Given the description of an element on the screen output the (x, y) to click on. 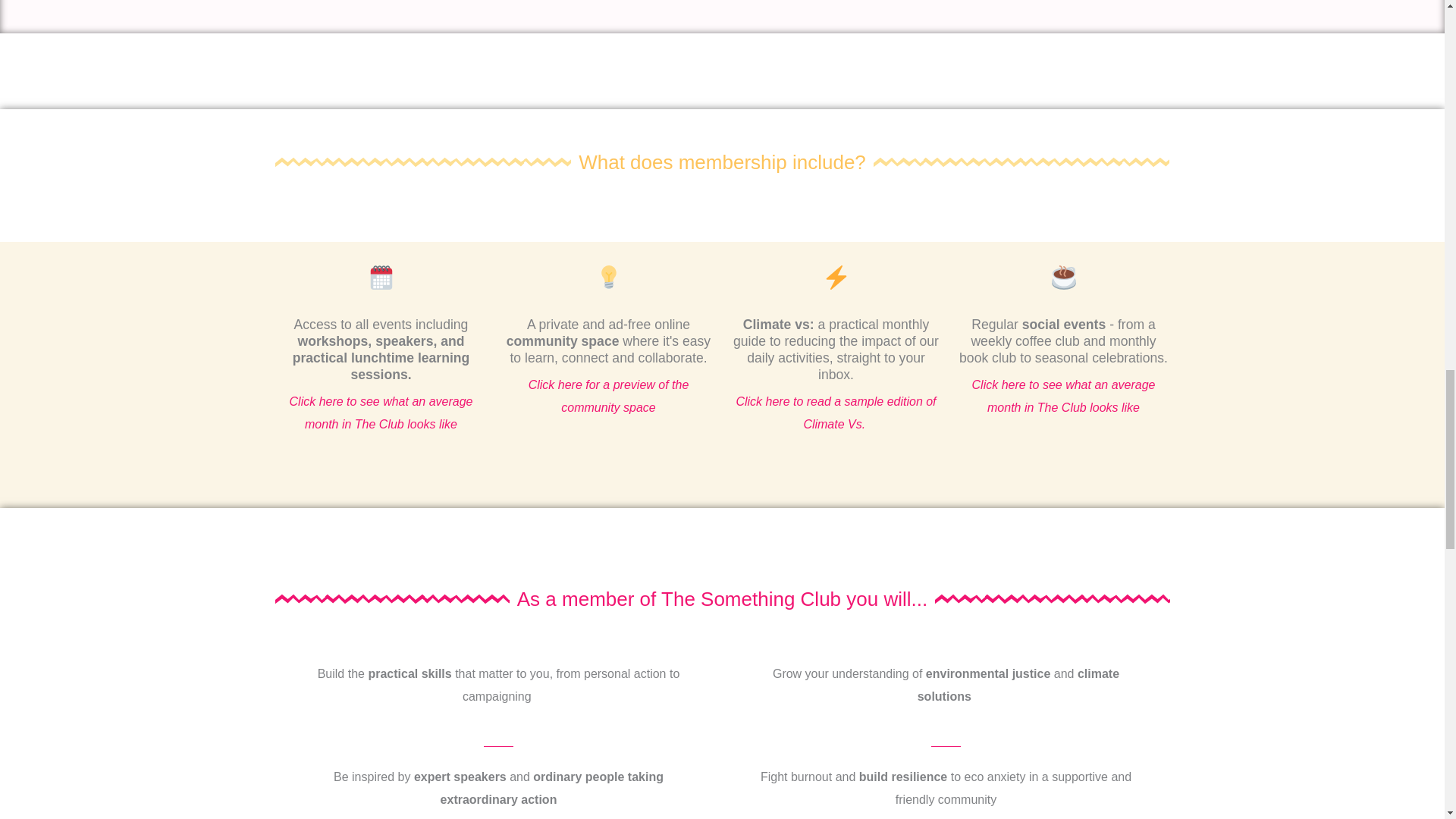
Click here for a preview of the community space (608, 396)
